Given the description of an element on the screen output the (x, y) to click on. 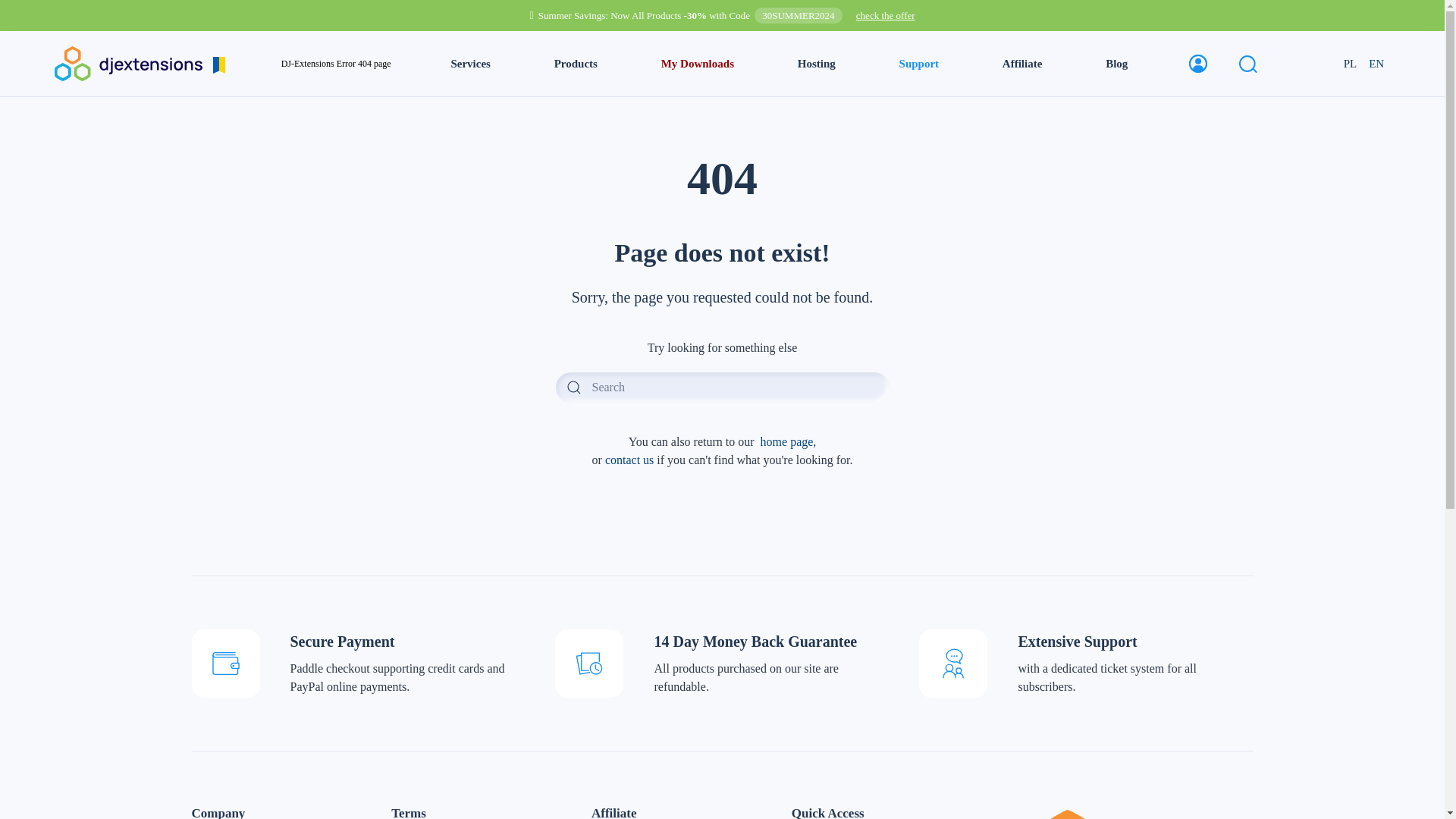
cls (697, 63)
language switcher - EN (1376, 63)
Summer savings, check out the offer (885, 15)
Wordpress and Joomla Developer (140, 61)
check the offer (885, 15)
